Given the description of an element on the screen output the (x, y) to click on. 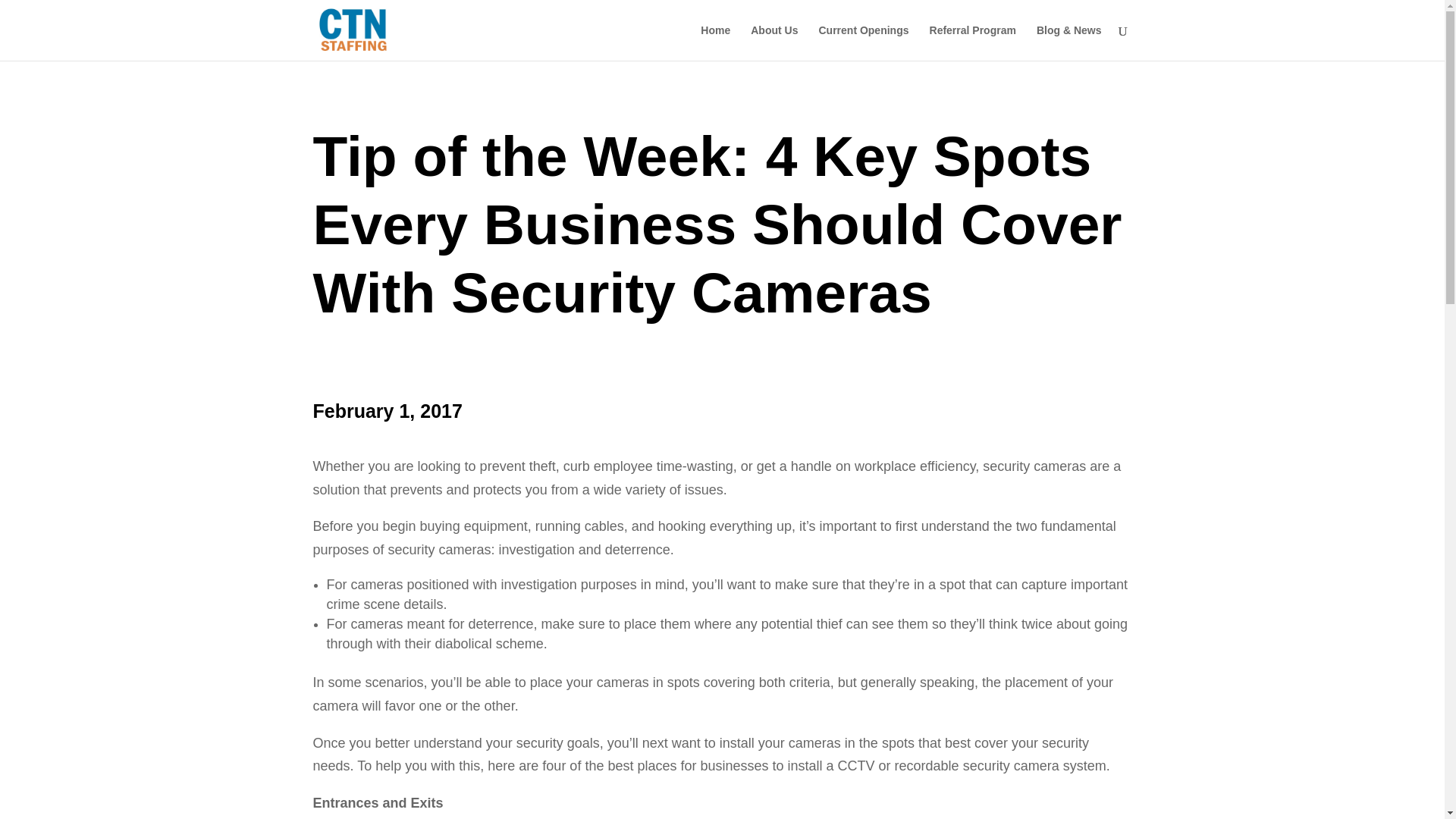
Current Openings (863, 42)
Referral Program (973, 42)
About Us (774, 42)
